Given the description of an element on the screen output the (x, y) to click on. 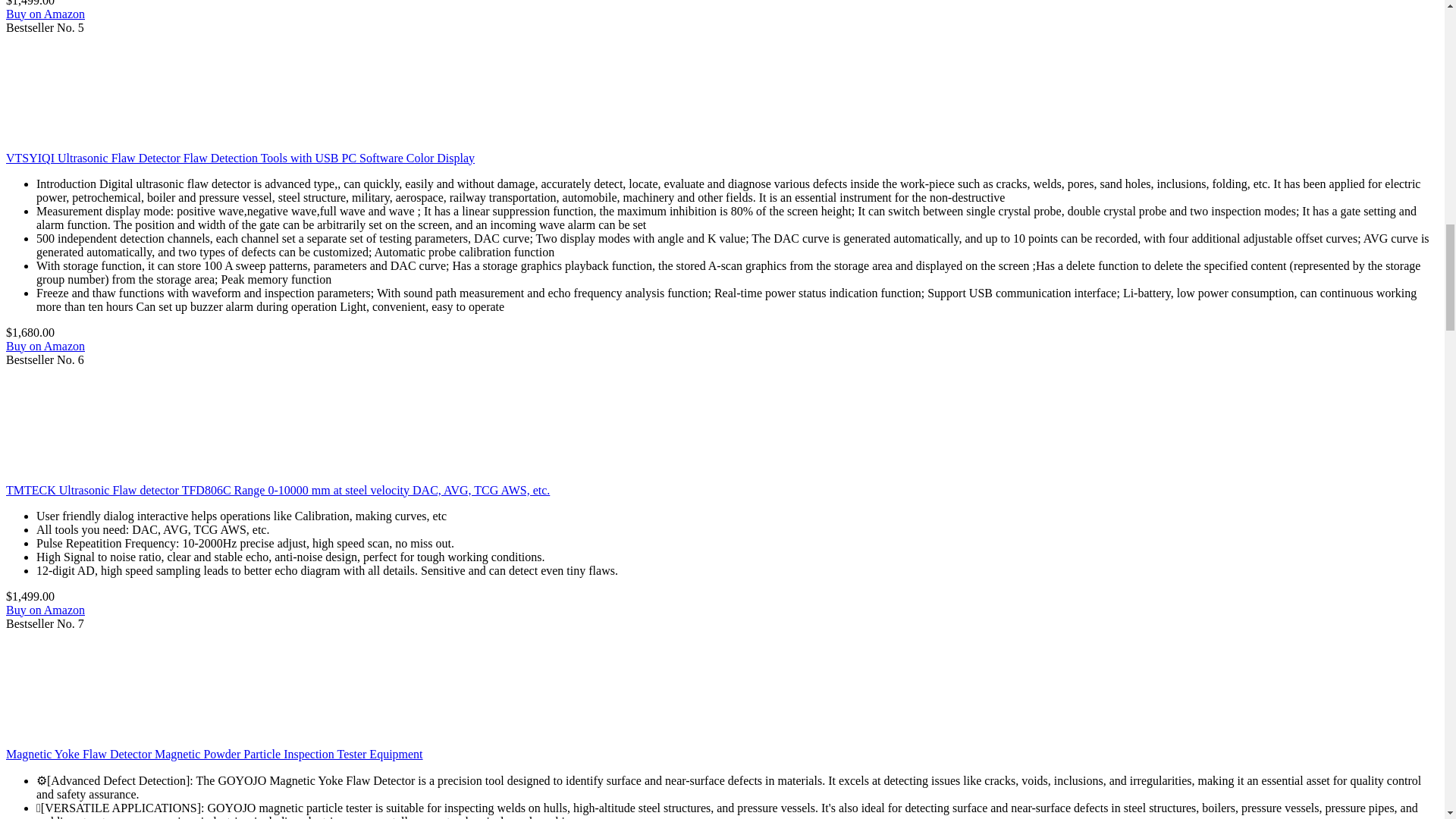
Buy on Amazon (44, 345)
Buy on Amazon (44, 609)
Amazon Prime (78, 3)
Buy on Amazon (44, 13)
Buy on Amazon (44, 13)
